Given the description of an element on the screen output the (x, y) to click on. 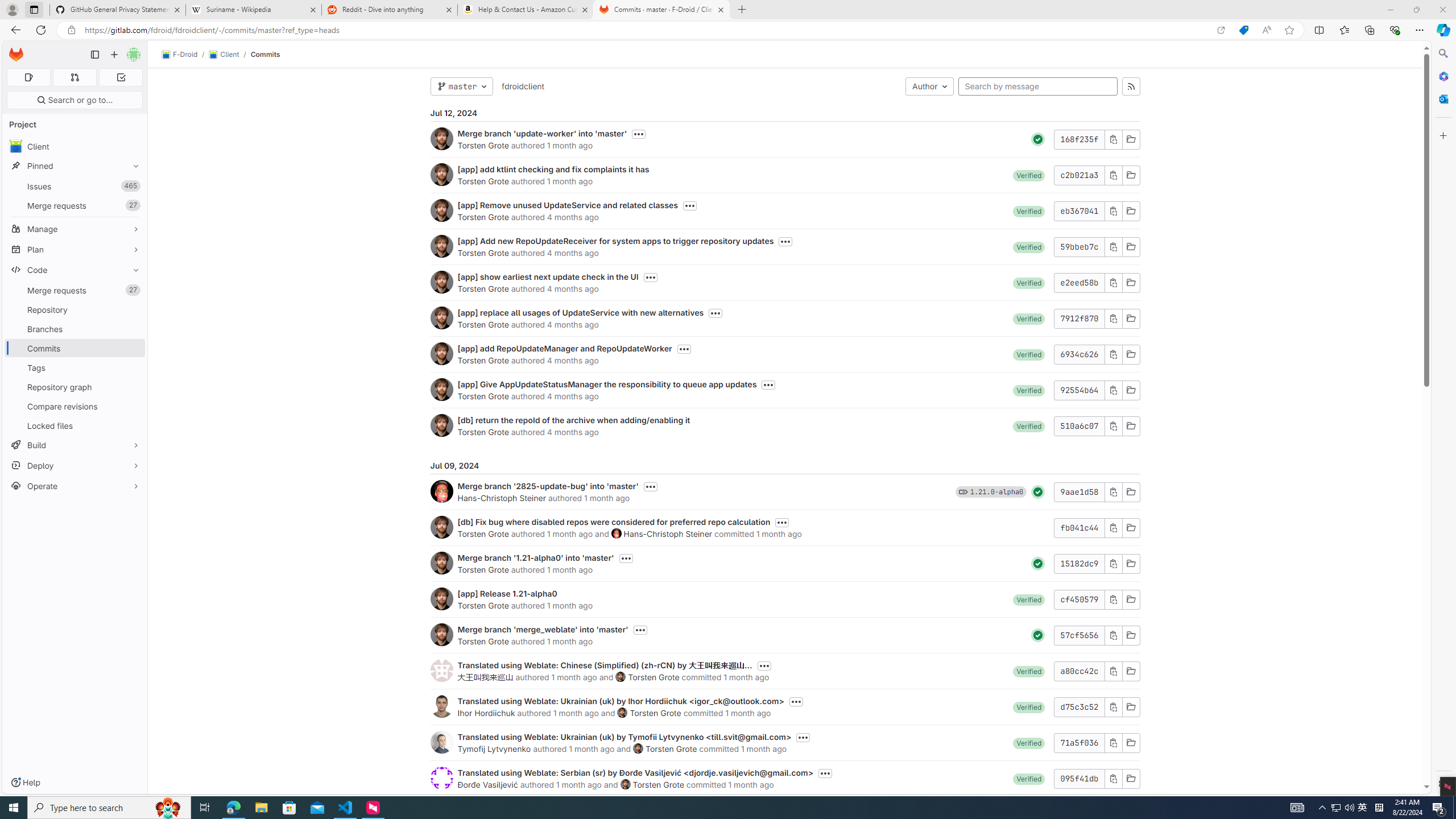
Pin Branches (132, 328)
AutomationID: 4105 (1297, 807)
avatar Client (74, 145)
Commits feed (1130, 85)
Hans-Christoph Steiner's avatar (616, 533)
1.21.0-alpha0 (996, 491)
Action Center, 2 new notifications (1439, 807)
Tymofij Lytvynenko's avatar (440, 741)
Microsoft Store (289, 807)
Branches (74, 328)
